Given the description of an element on the screen output the (x, y) to click on. 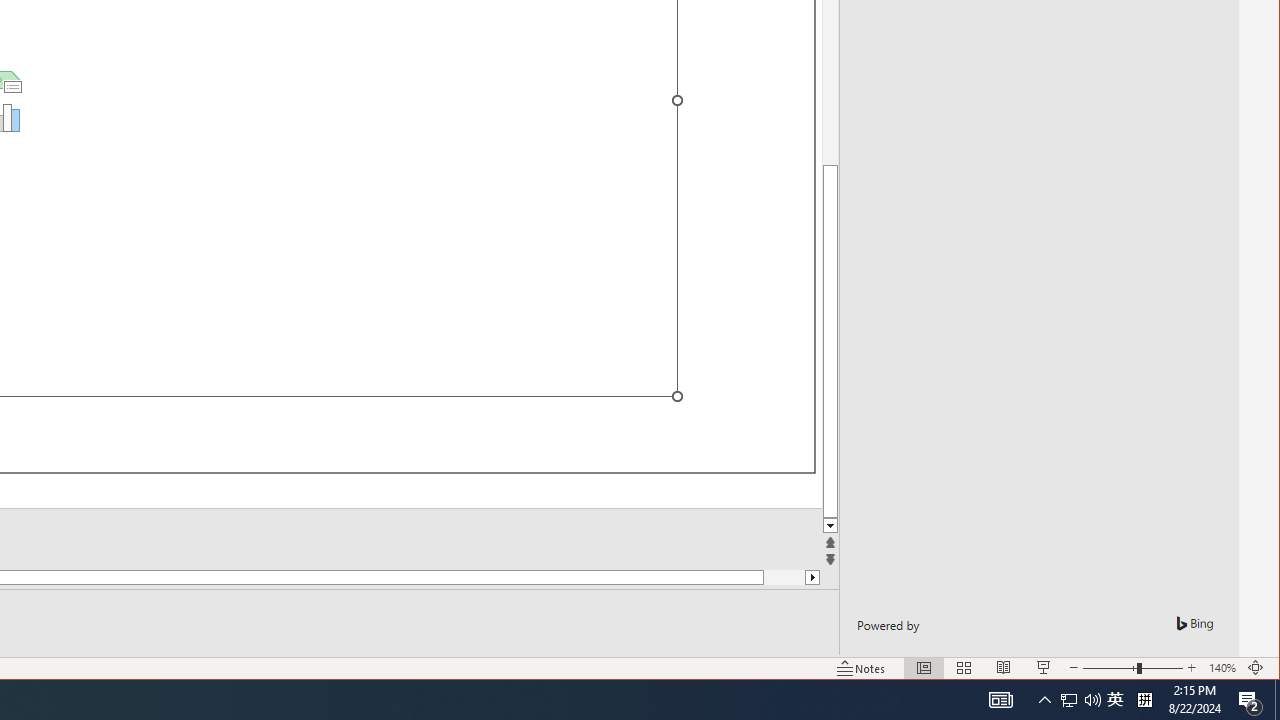
Zoom 140% (1222, 668)
